Given the description of an element on the screen output the (x, y) to click on. 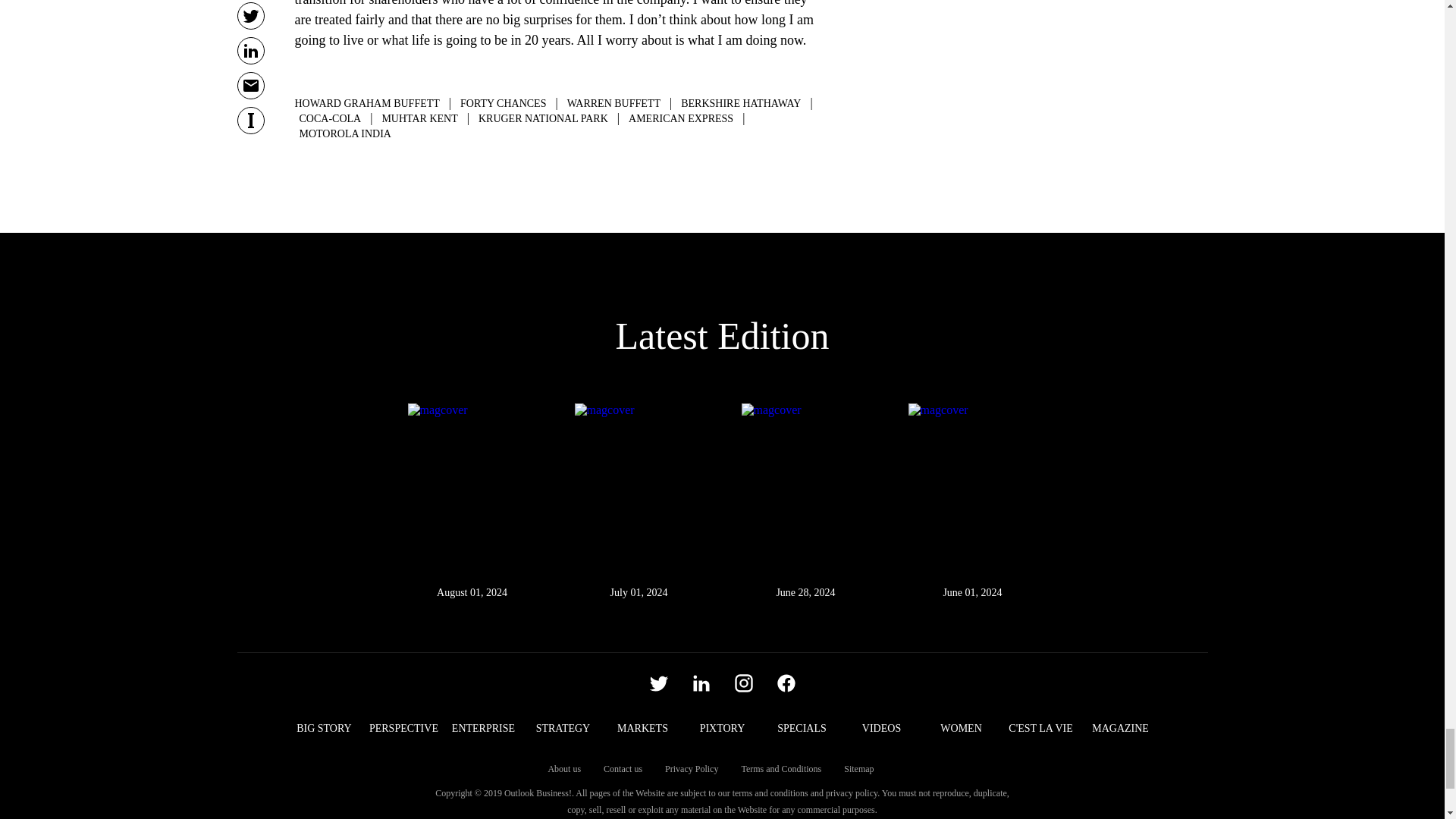
linkedin (700, 682)
User Profile (785, 682)
twitter (657, 682)
instagram (743, 682)
